Given the description of an element on the screen output the (x, y) to click on. 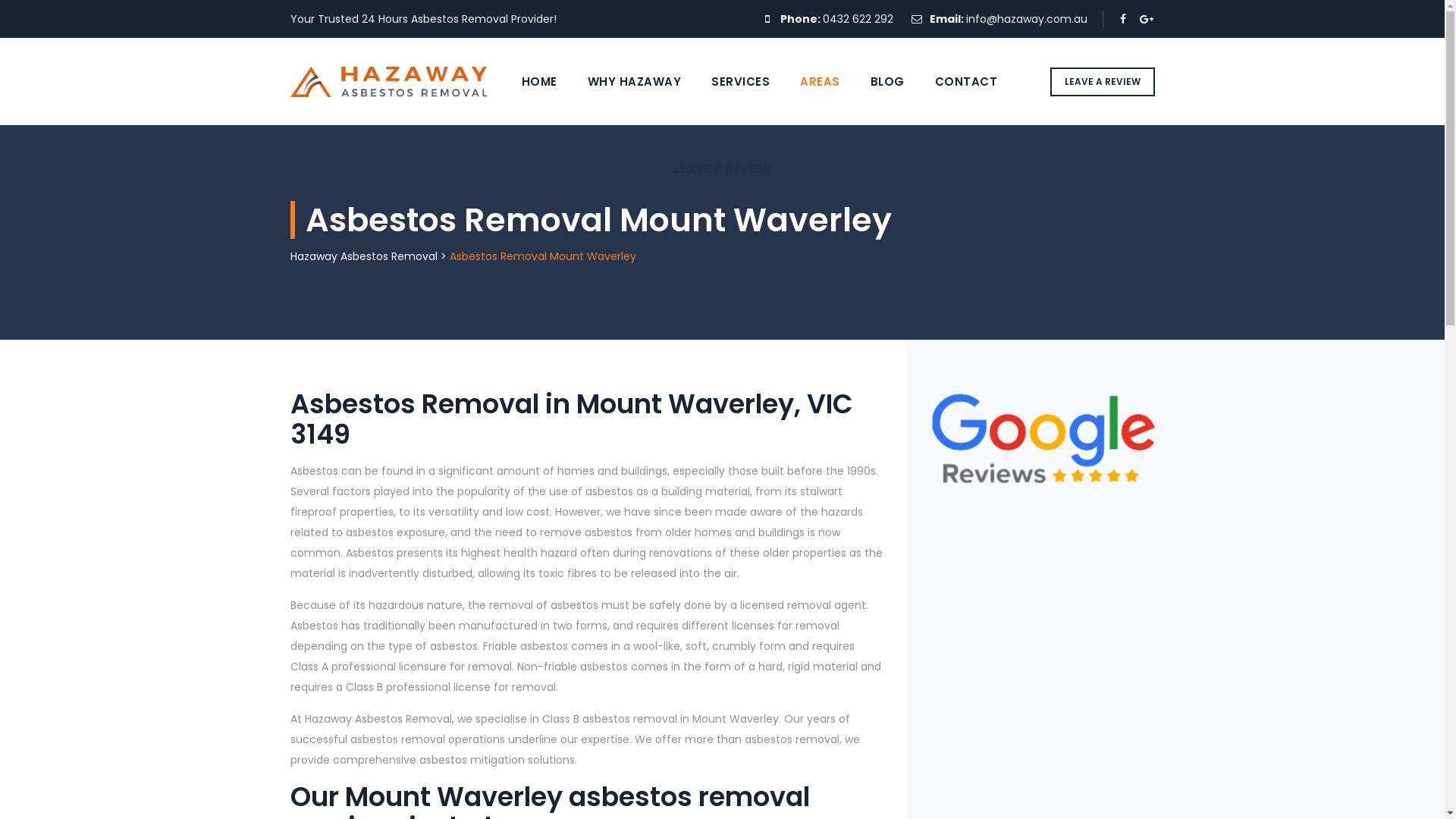
0432 622 292 Element type: text (857, 18)
CONTACT Element type: text (966, 81)
HOME Element type: text (539, 81)
AREAS Element type: text (819, 81)
info@hazaway.com.au Element type: text (1026, 18)
WHY HAZAWAY Element type: text (634, 81)
Hazaway Asbestos Removal Element type: text (362, 255)
Hazaway Asbestos Removal Element type: hover (387, 81)
LEAVE A REVIEW Element type: text (722, 168)
SERVICES Element type: text (740, 81)
BLOG Element type: text (887, 81)
LEAVE A REVIEW Element type: text (1101, 81)
